Given the description of an element on the screen output the (x, y) to click on. 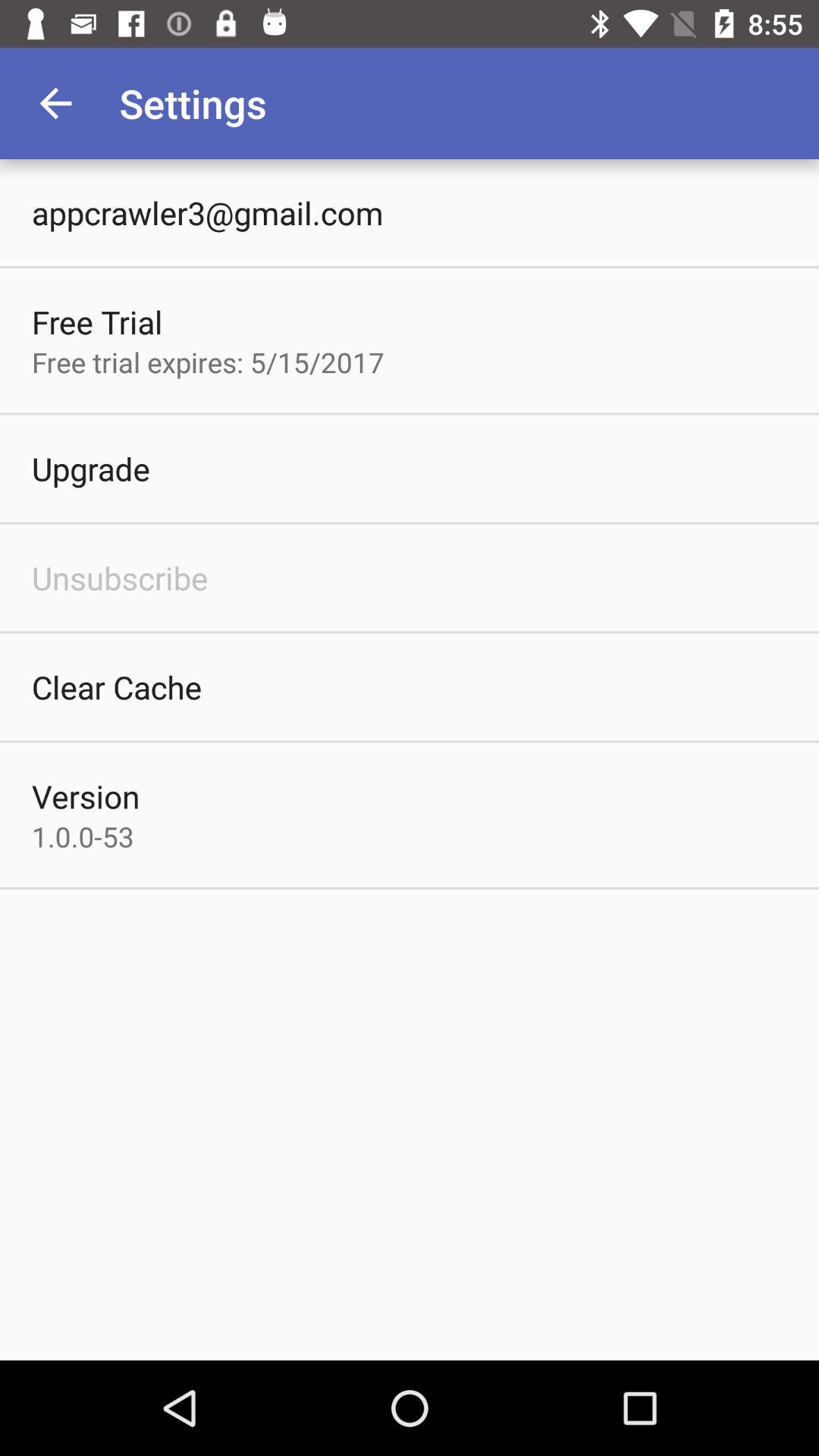
turn off the icon above version item (116, 686)
